Given the description of an element on the screen output the (x, y) to click on. 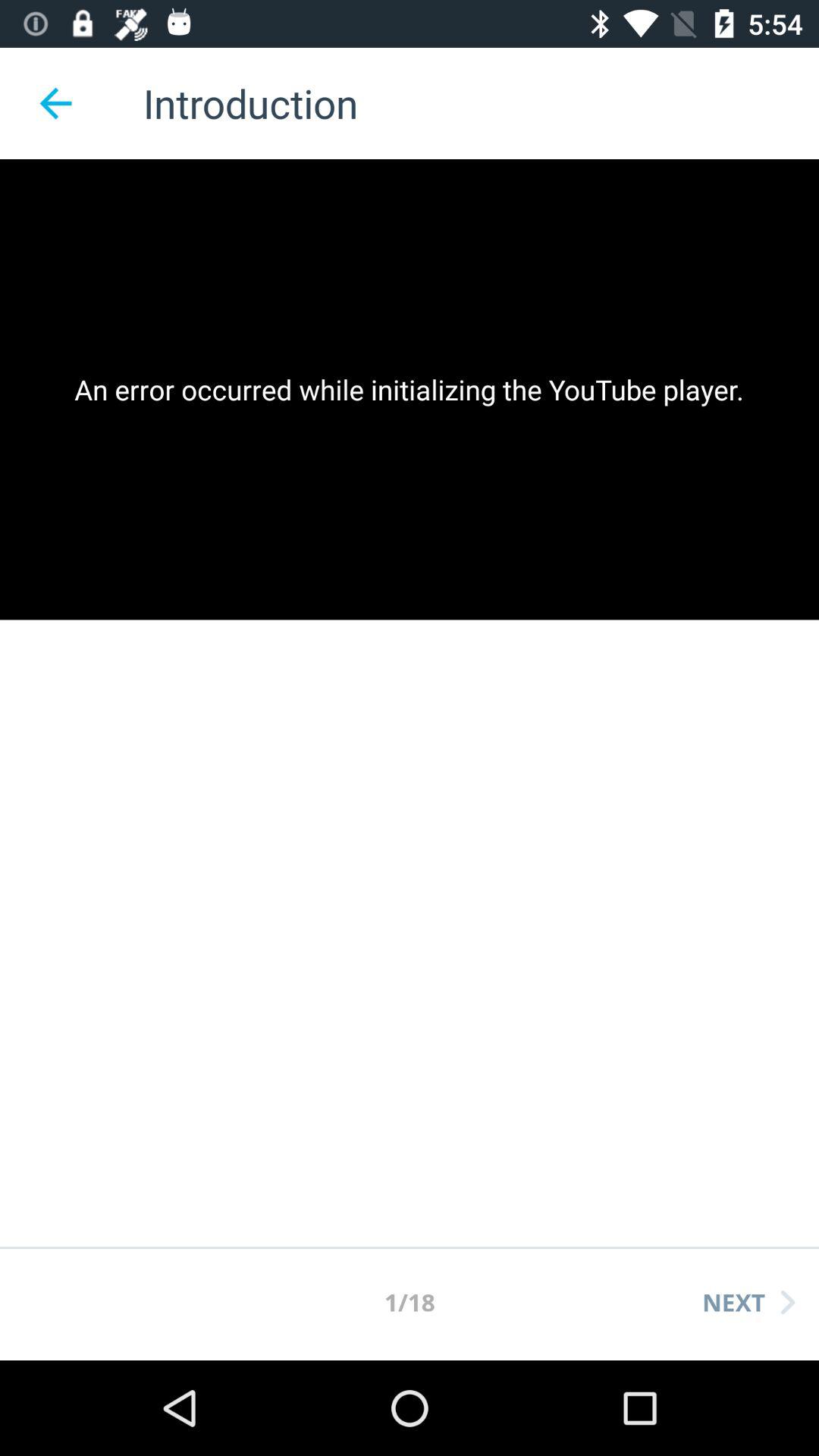
turn off item next to 1/18 icon (748, 1302)
